Given the description of an element on the screen output the (x, y) to click on. 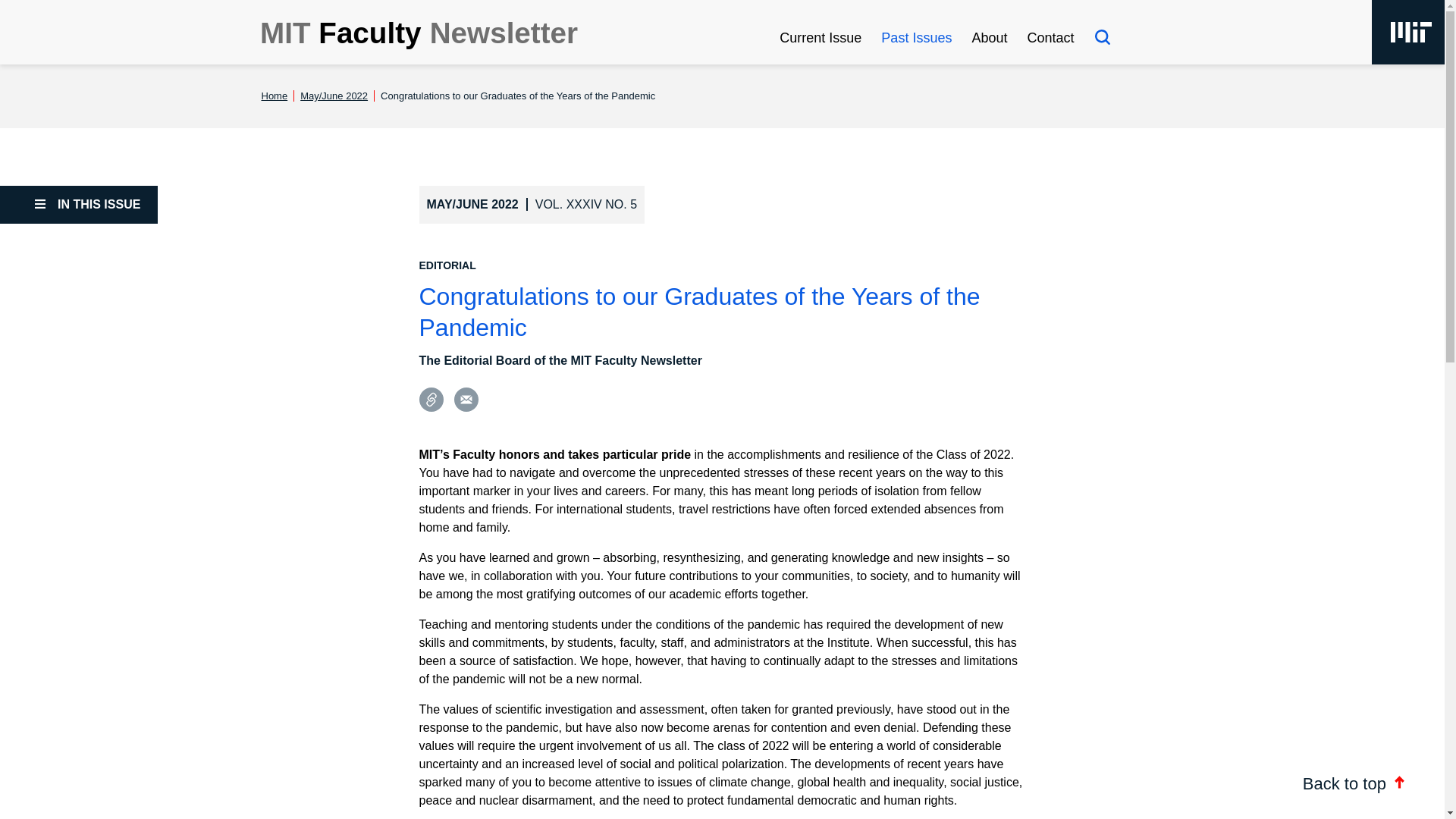
Current Issue (820, 37)
Contact (1049, 37)
MIT Faculty Newsletter (418, 34)
Past Issues (915, 37)
SEARCH (1101, 36)
About (988, 37)
